Given the description of an element on the screen output the (x, y) to click on. 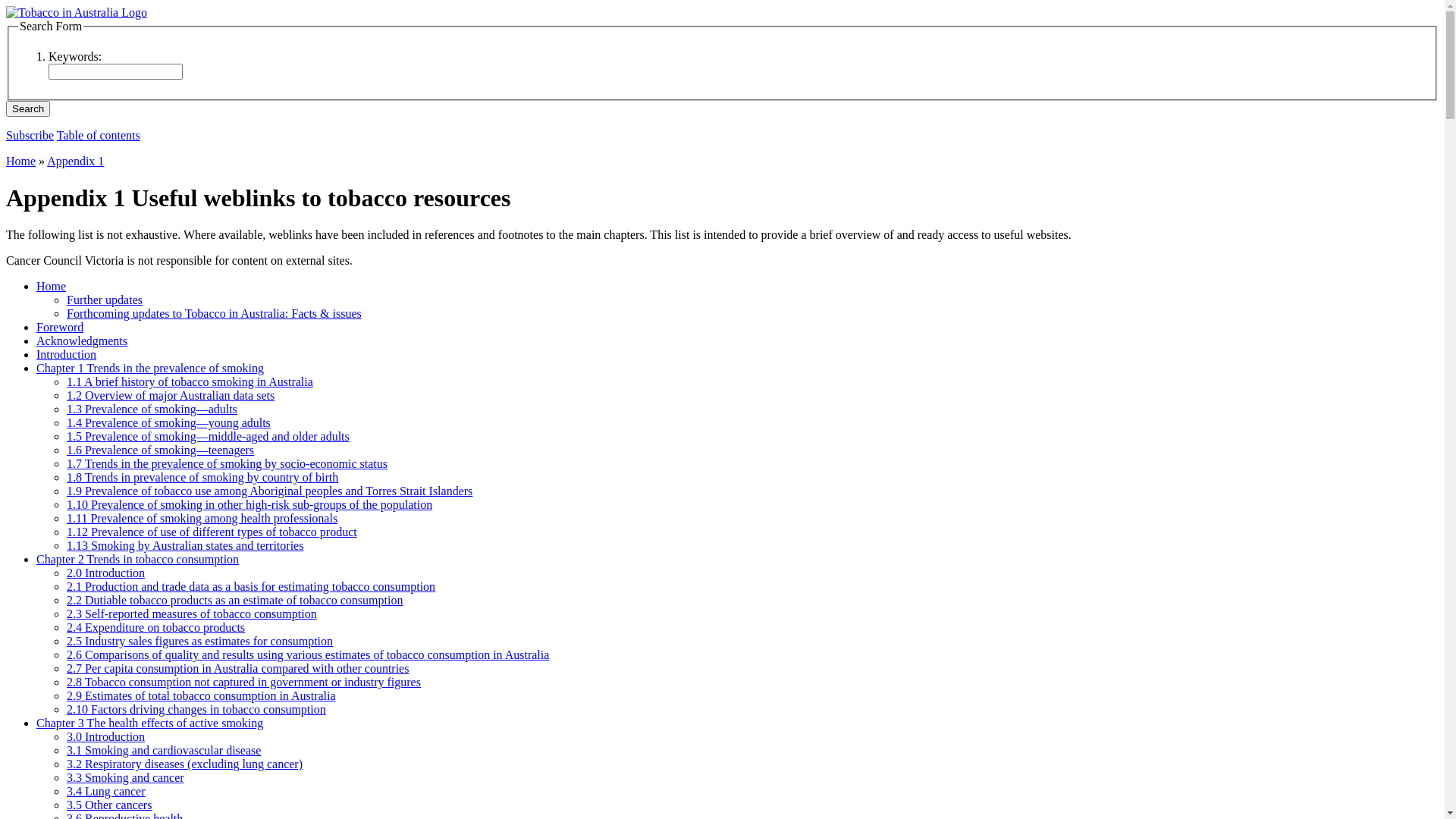
Search Element type: text (28, 108)
Acknowledgments Element type: text (81, 340)
3.5 Other cancers Element type: text (108, 804)
1.12 Prevalence of use of different types of tobacco product Element type: text (211, 531)
1.11 Prevalence of smoking among health professionals Element type: text (201, 517)
1.13 Smoking by Australian states and territories Element type: text (184, 545)
Subscribe Element type: text (29, 134)
2.4 Expenditure on tobacco products Element type: text (155, 627)
1.8 Trends in prevalence of smoking by country of birth Element type: text (202, 476)
Appendix 1 Element type: text (75, 160)
2.10 Factors driving changes in tobacco consumption Element type: text (196, 708)
Foreword Element type: text (59, 326)
Chapter 1 Trends in the prevalence of smoking Element type: text (149, 367)
1.1 A brief history of tobacco smoking in Australia Element type: text (189, 381)
Forthcoming updates to Tobacco in Australia: Facts & issues Element type: text (213, 313)
2.5 Industry sales figures as estimates for consumption Element type: text (199, 640)
2.9 Estimates of total tobacco consumption in Australia Element type: text (200, 695)
Introduction Element type: text (66, 354)
3.2 Respiratory diseases (excluding lung cancer) Element type: text (184, 763)
Chapter 2 Trends in tobacco consumption Element type: text (137, 558)
2.3 Self-reported measures of tobacco consumption Element type: text (191, 613)
Further updates Element type: text (104, 299)
Home Element type: text (50, 285)
Chapter 3 The health effects of active smoking Element type: text (149, 722)
Table of contents Element type: text (98, 134)
2.0 Introduction Element type: text (105, 572)
3.1 Smoking and cardiovascular disease Element type: text (163, 749)
3.0 Introduction Element type: text (105, 736)
Home Element type: text (20, 160)
3.4 Lung cancer Element type: text (105, 790)
Return to the home page Element type: hover (76, 12)
3.3 Smoking and cancer Element type: text (125, 777)
1.2 Overview of major Australian data sets Element type: text (170, 395)
